Given the description of an element on the screen output the (x, y) to click on. 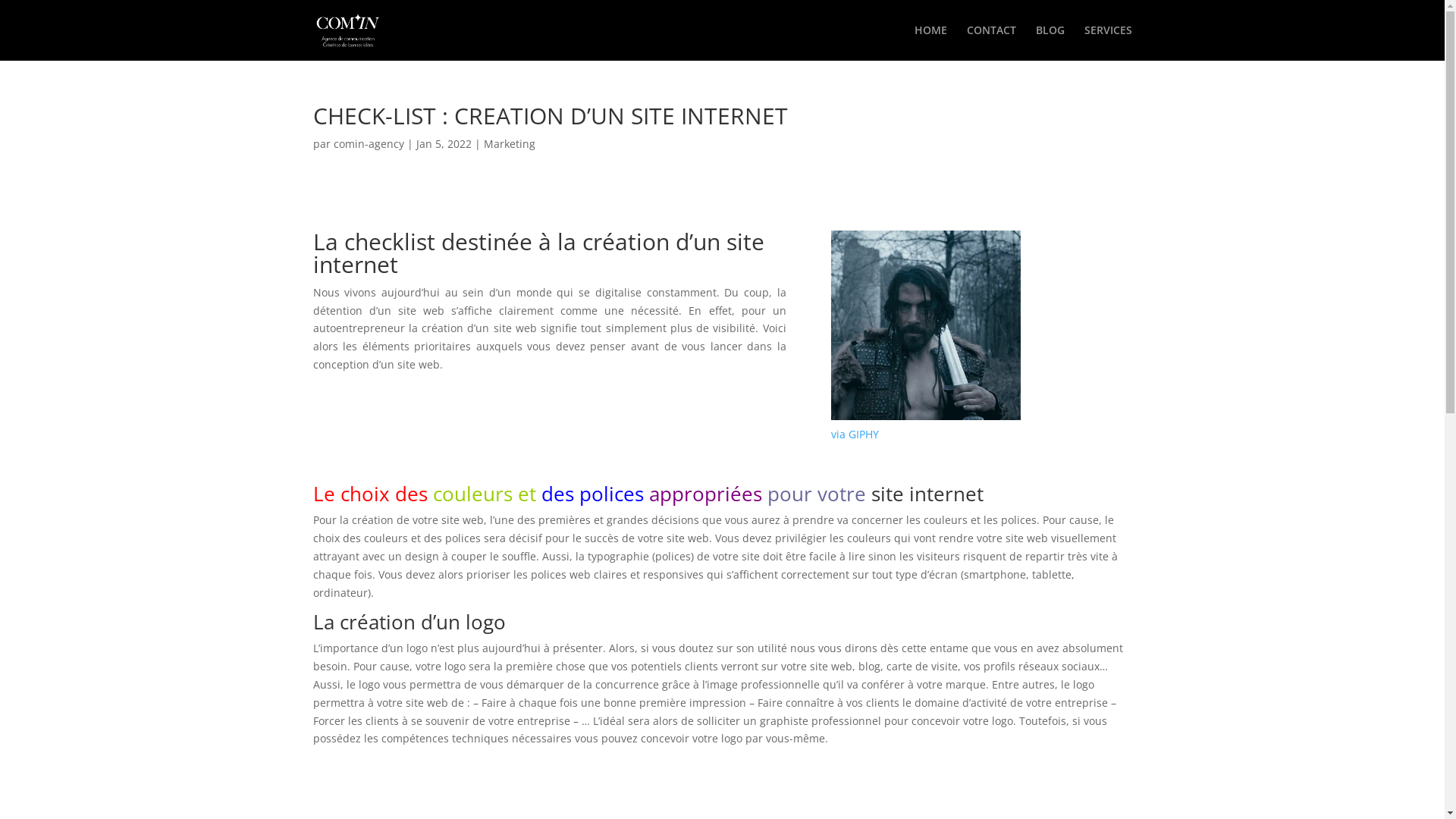
BLOG Element type: text (1049, 42)
HOME Element type: text (930, 42)
CONTACT Element type: text (990, 42)
SERVICES Element type: text (1108, 42)
via GIPHY Element type: text (854, 433)
Marketing Element type: text (509, 143)
comin-agency Element type: text (368, 143)
